Given the description of an element on the screen output the (x, y) to click on. 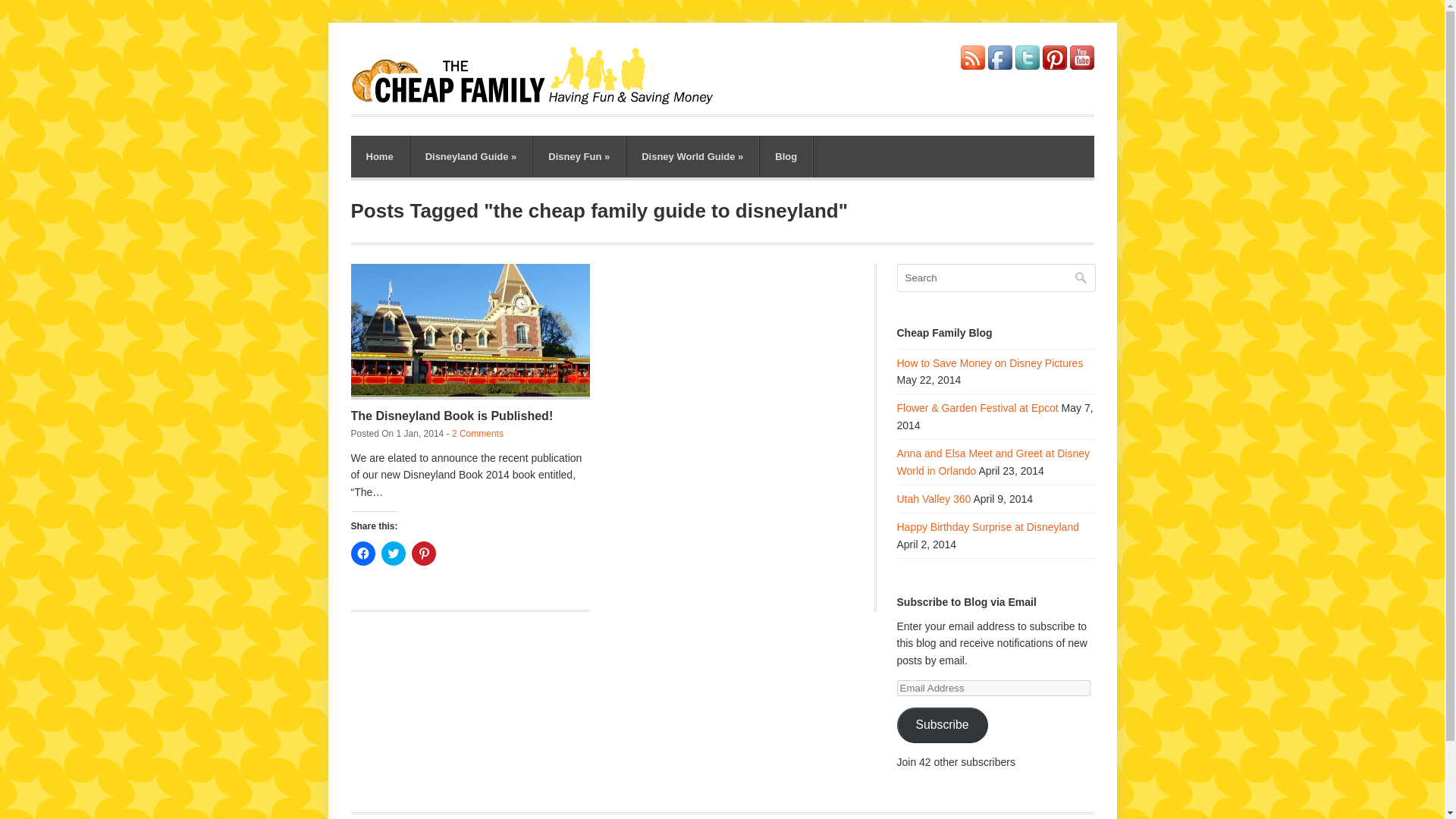
2 Comments (477, 433)
Utah Valley 360 (933, 499)
The Disneyland Book is Published! (469, 331)
Search (995, 277)
How to Save Money on Disney Pictures (989, 363)
Blog (786, 156)
Click to share on Pinterest (422, 553)
The Disneyland Book is Published! (451, 415)
Click to share on Facebook (362, 553)
Click to share on Twitter (392, 553)
The Cheap Family (539, 100)
Anna and Elsa Meet and Greet at Disney World in Orlando (992, 461)
The Disneyland Book is Published! (451, 415)
Home (378, 156)
